Given the description of an element on the screen output the (x, y) to click on. 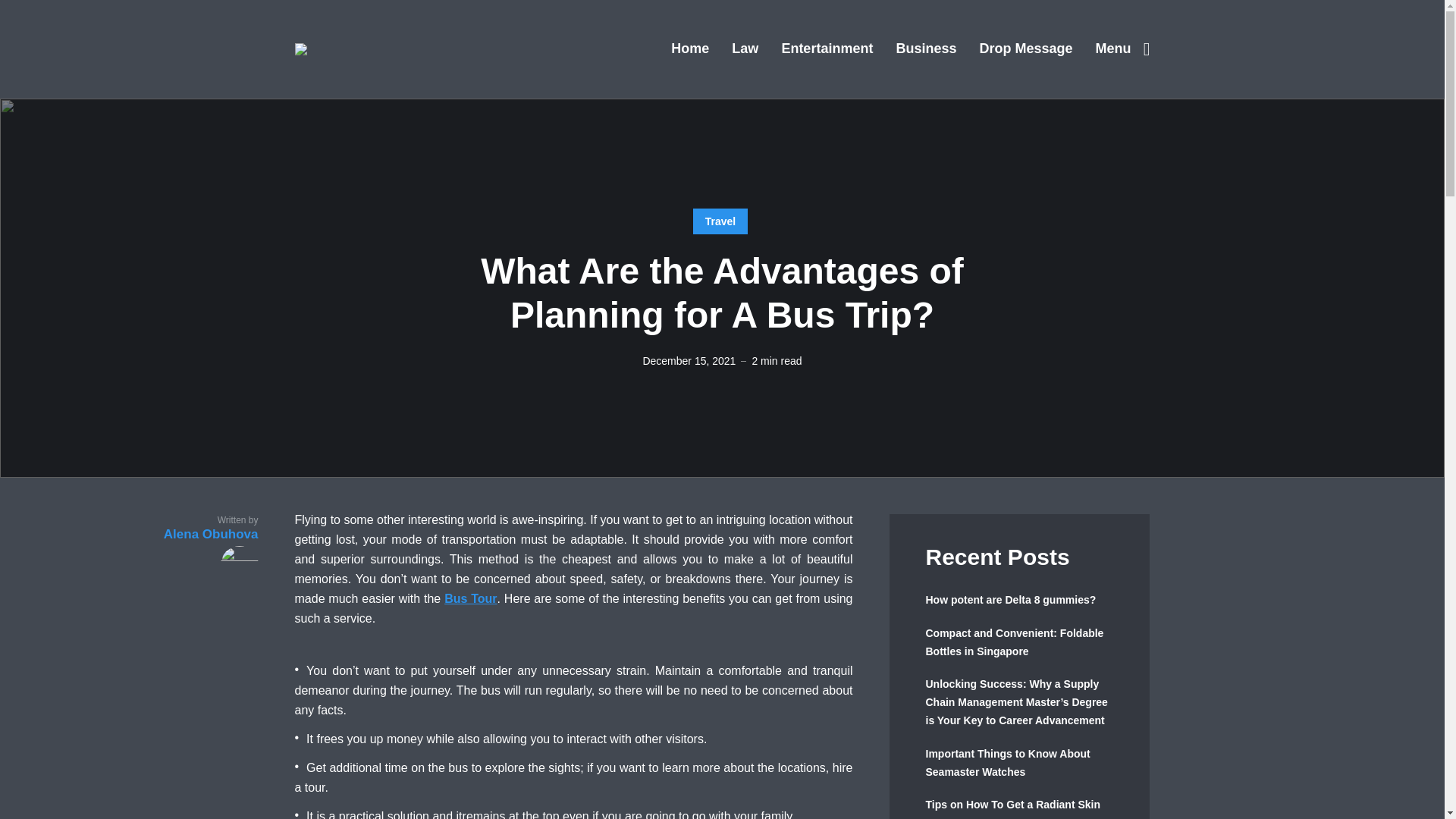
Drop Message (1024, 48)
Alena Obuhova (201, 555)
Business (925, 48)
Menu (1122, 48)
Bus Tour (470, 598)
Home (690, 48)
Entertainment (826, 48)
Tips on How To Get a Radiant Skin (1018, 805)
Important Things to Know About Seamaster Watches (1018, 763)
Travel (720, 221)
How potent are Delta 8 gummies? (1018, 600)
Compact and Convenient: Foldable Bottles in Singapore (1018, 642)
